Given the description of an element on the screen output the (x, y) to click on. 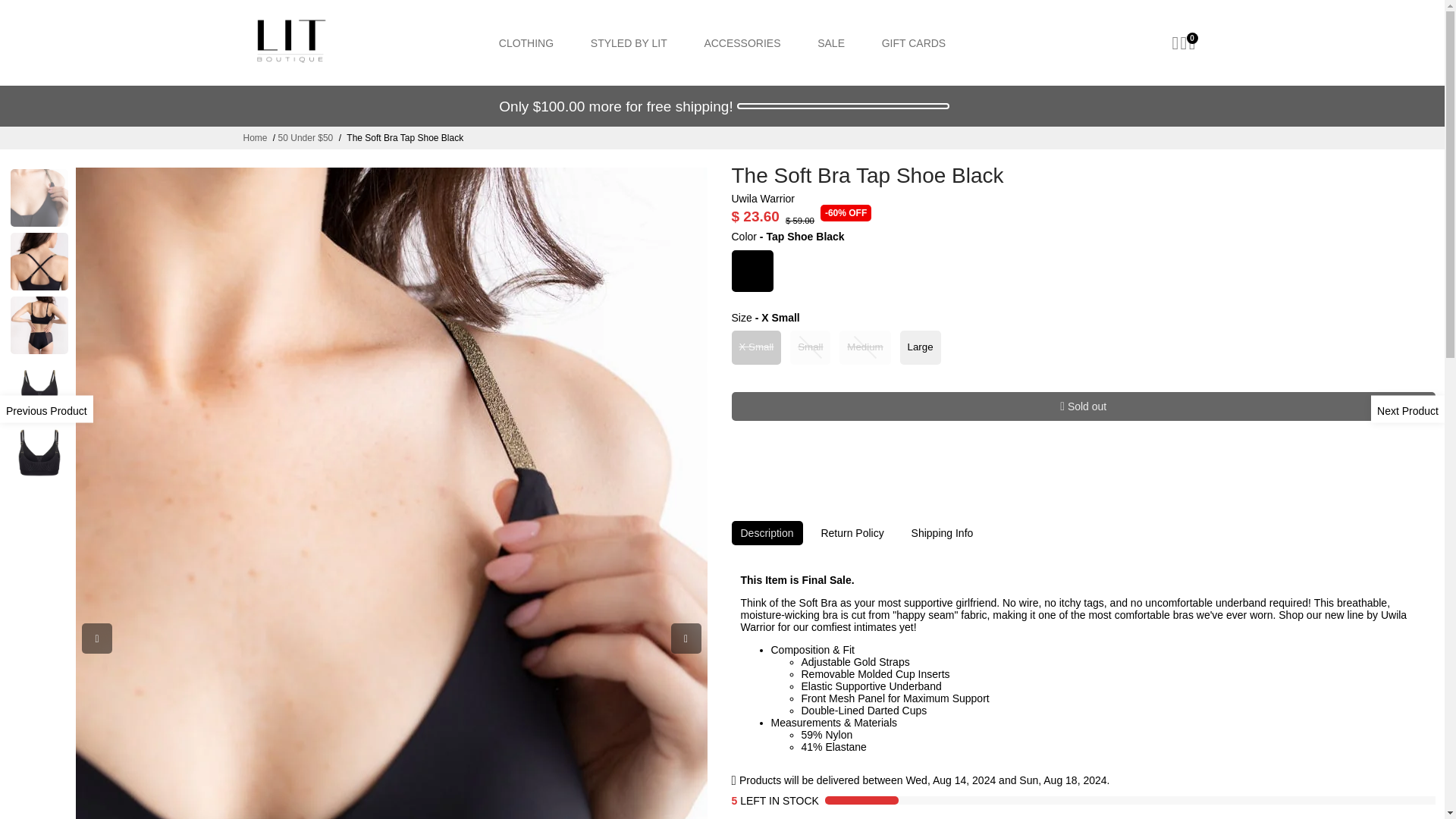
CLOTHING (526, 42)
ACCESSORIES (741, 42)
Home (254, 137)
STYLED BY LIT (628, 42)
